Given the description of an element on the screen output the (x, y) to click on. 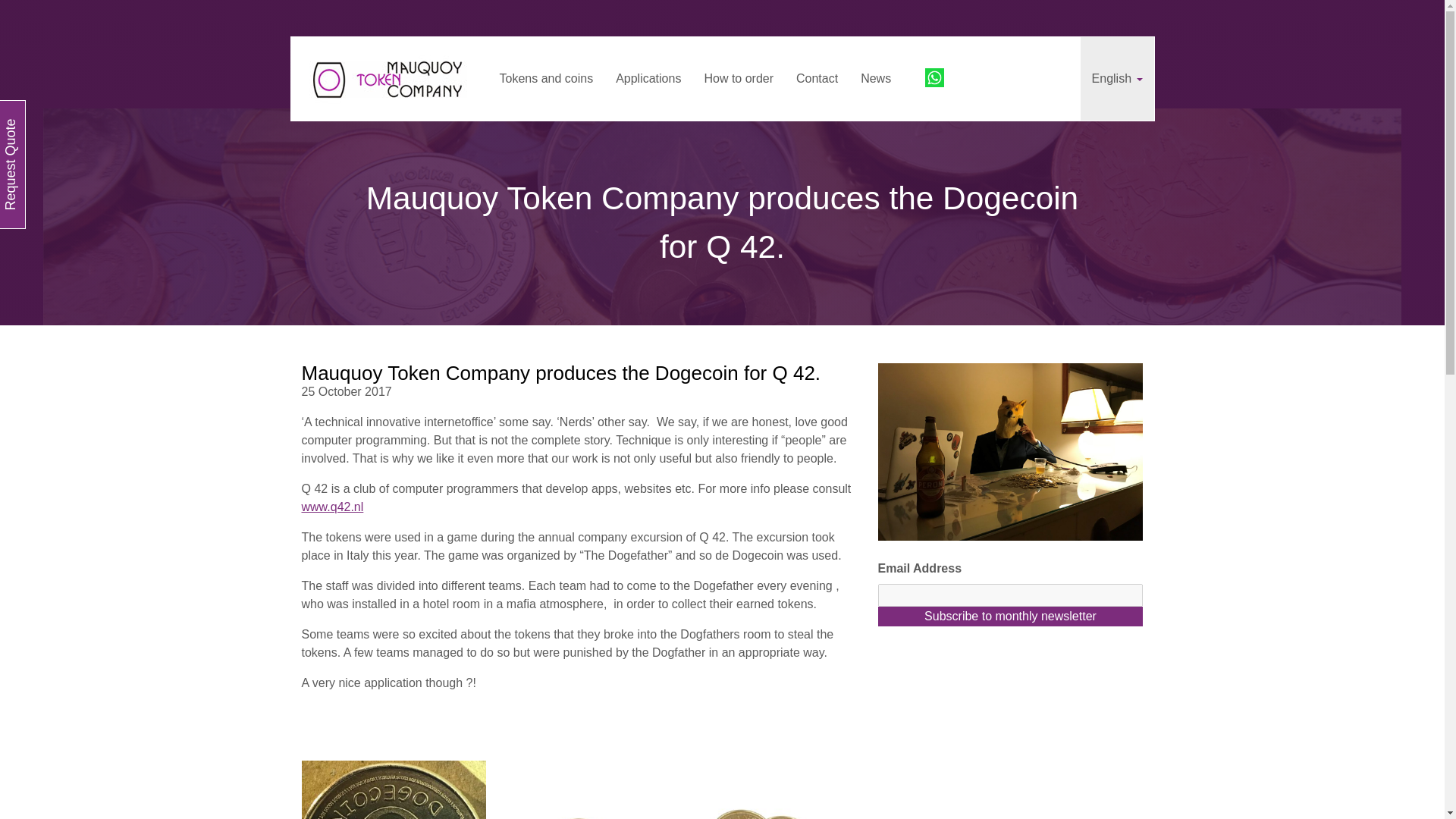
www.q42.nl (332, 506)
Applications (648, 78)
Tokens and coins (546, 78)
Subscribe to monthly newsletter (1009, 616)
How to order (738, 78)
